Given the description of an element on the screen output the (x, y) to click on. 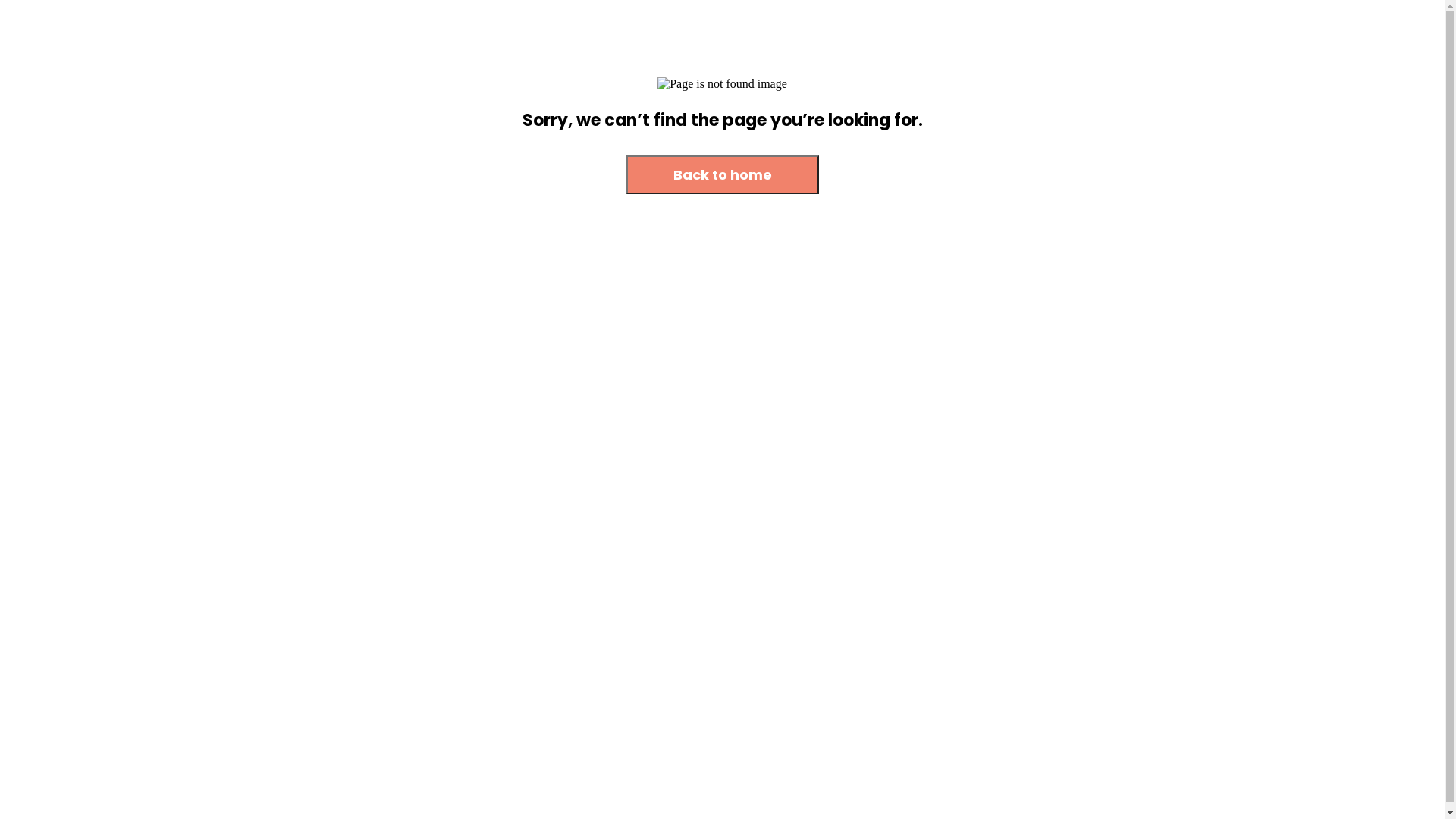
Back to home Element type: text (722, 175)
Back to home Element type: text (722, 174)
